Given the description of an element on the screen output the (x, y) to click on. 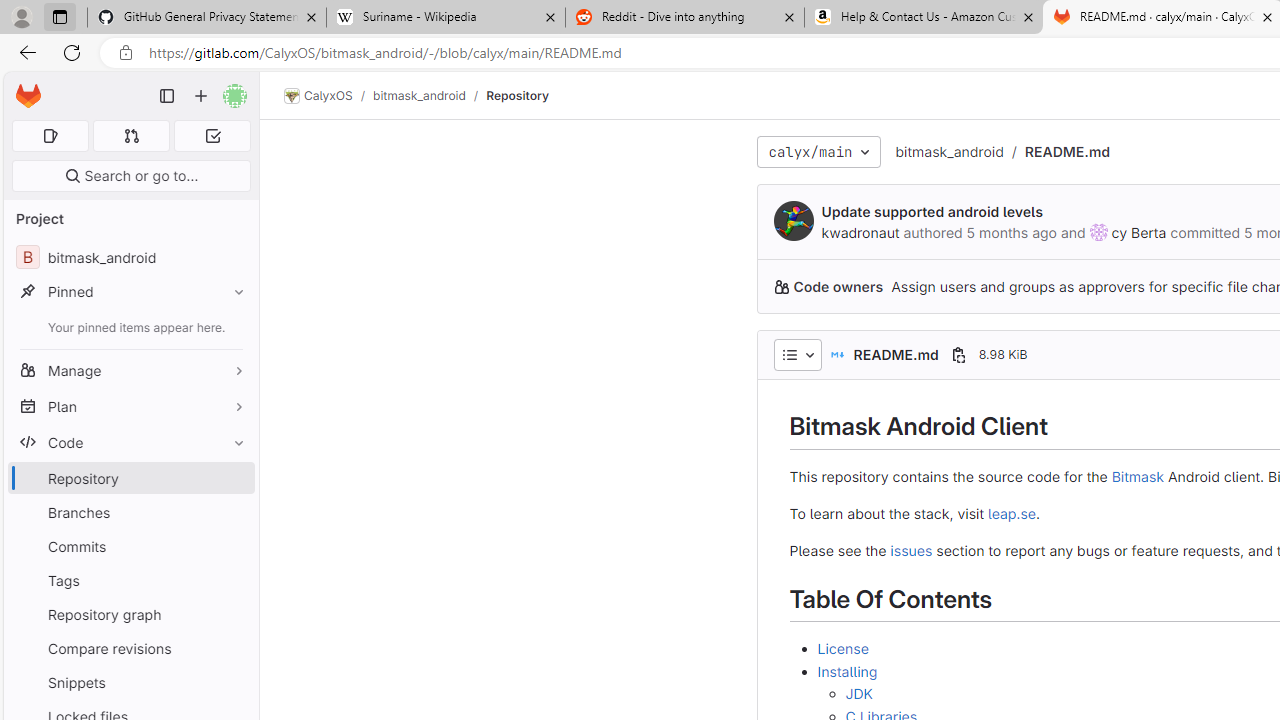
Tags (130, 579)
CalyxOS/ (328, 96)
Pin Branches (234, 511)
Pin Repository (234, 478)
Pin Tags (234, 580)
bitmask_android (948, 151)
Installing (847, 670)
bitmask_android/ (429, 95)
cy Berta's avatar (1098, 232)
Copy file path (958, 354)
B bitmask_android (130, 257)
Assigned issues 0 (50, 136)
README.md (1067, 151)
